Given the description of an element on the screen output the (x, y) to click on. 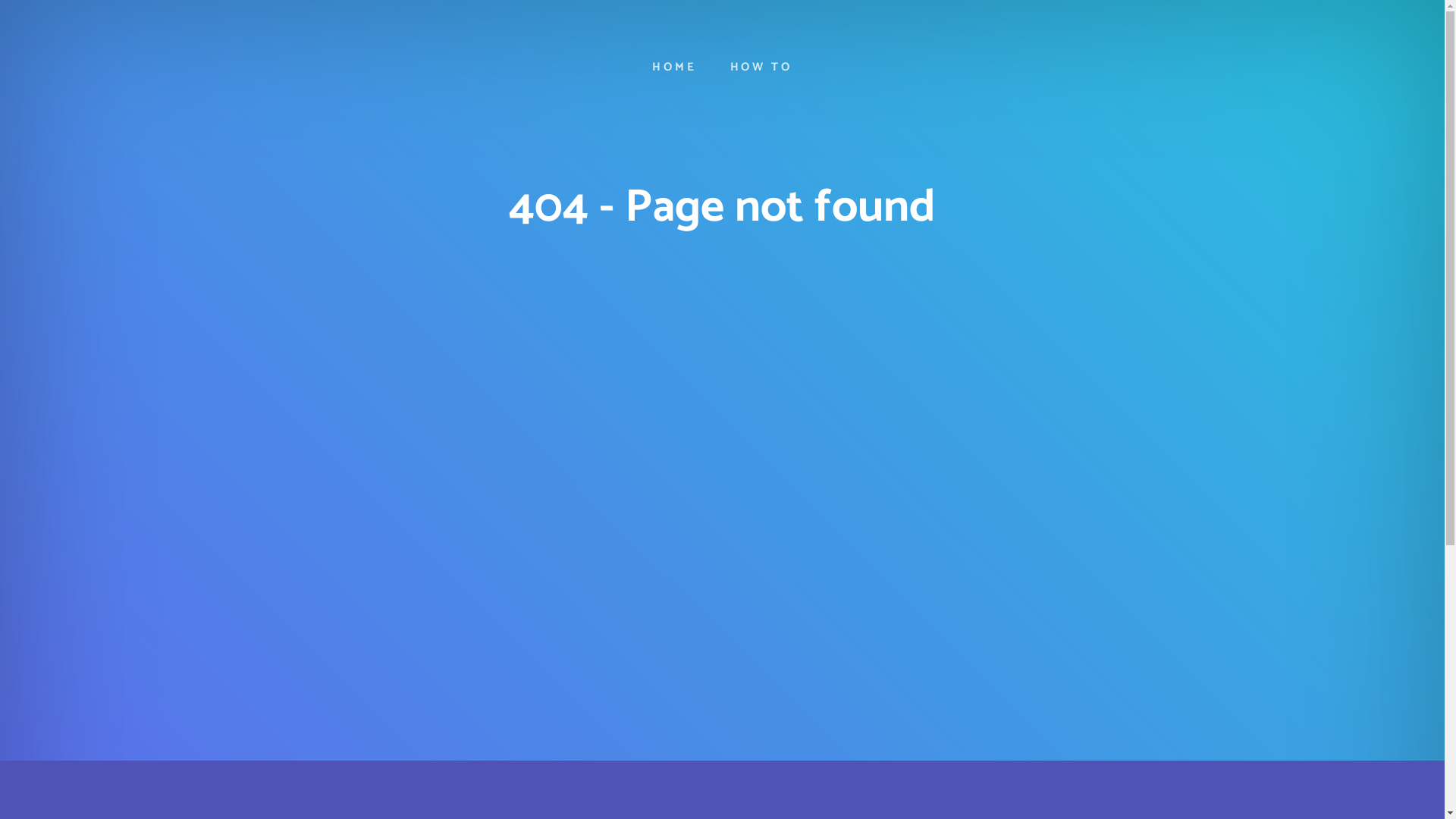
HOME Element type: text (674, 67)
HOW TO Element type: text (761, 67)
